Given the description of an element on the screen output the (x, y) to click on. 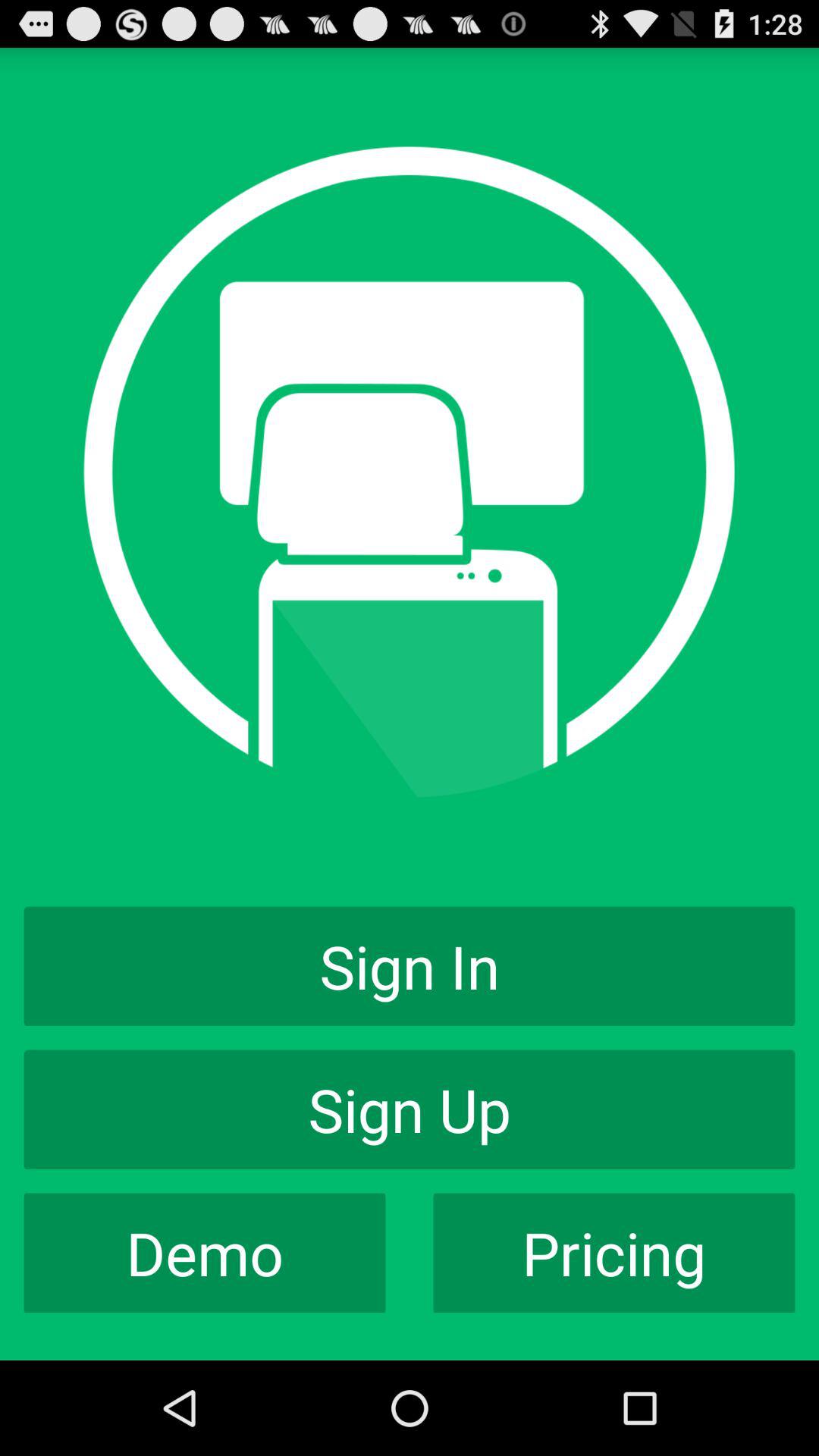
open the demo app (204, 1252)
